Given the description of an element on the screen output the (x, y) to click on. 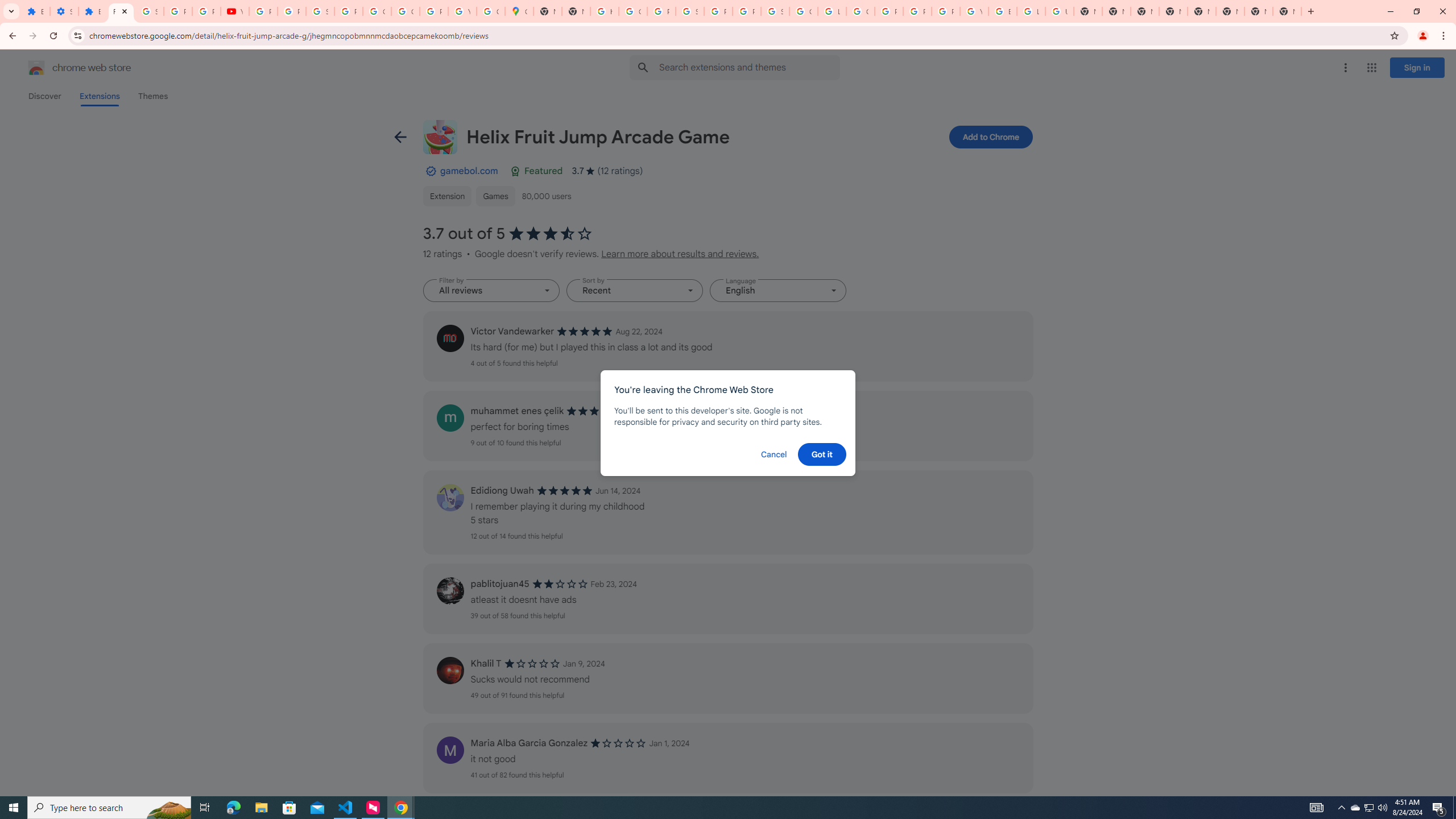
YouTube (461, 11)
https://scholar.google.com/ (604, 11)
New Tab (1287, 11)
Sign in - Google Accounts (320, 11)
Extensions (92, 11)
YouTube (973, 11)
